Given the description of an element on the screen output the (x, y) to click on. 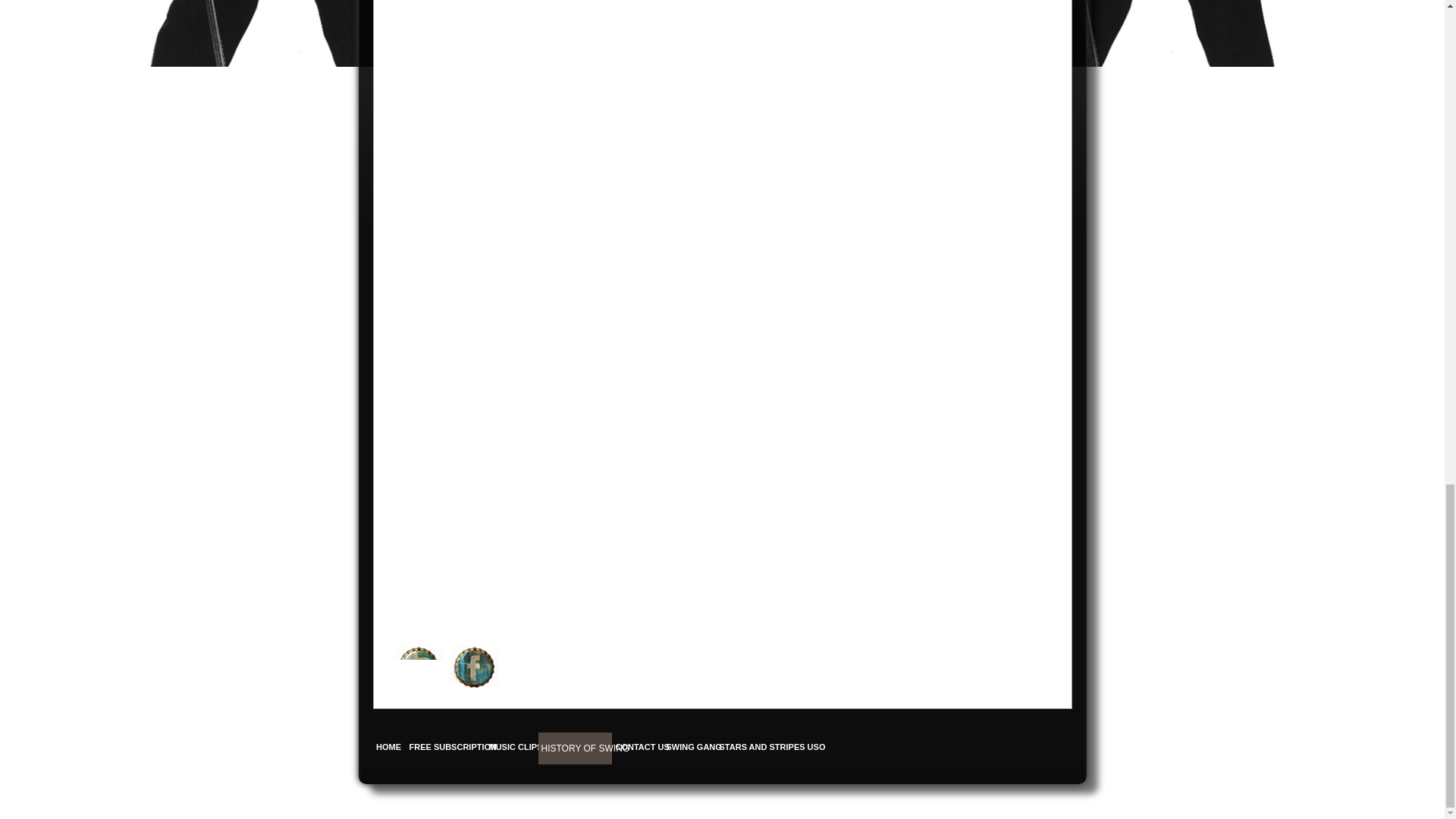
HOME (388, 747)
HISTORY OF SWING (574, 748)
FREE SUBSCRIPTION (445, 747)
CONTACT US (637, 747)
MUSIC CLIPS (509, 747)
